Given the description of an element on the screen output the (x, y) to click on. 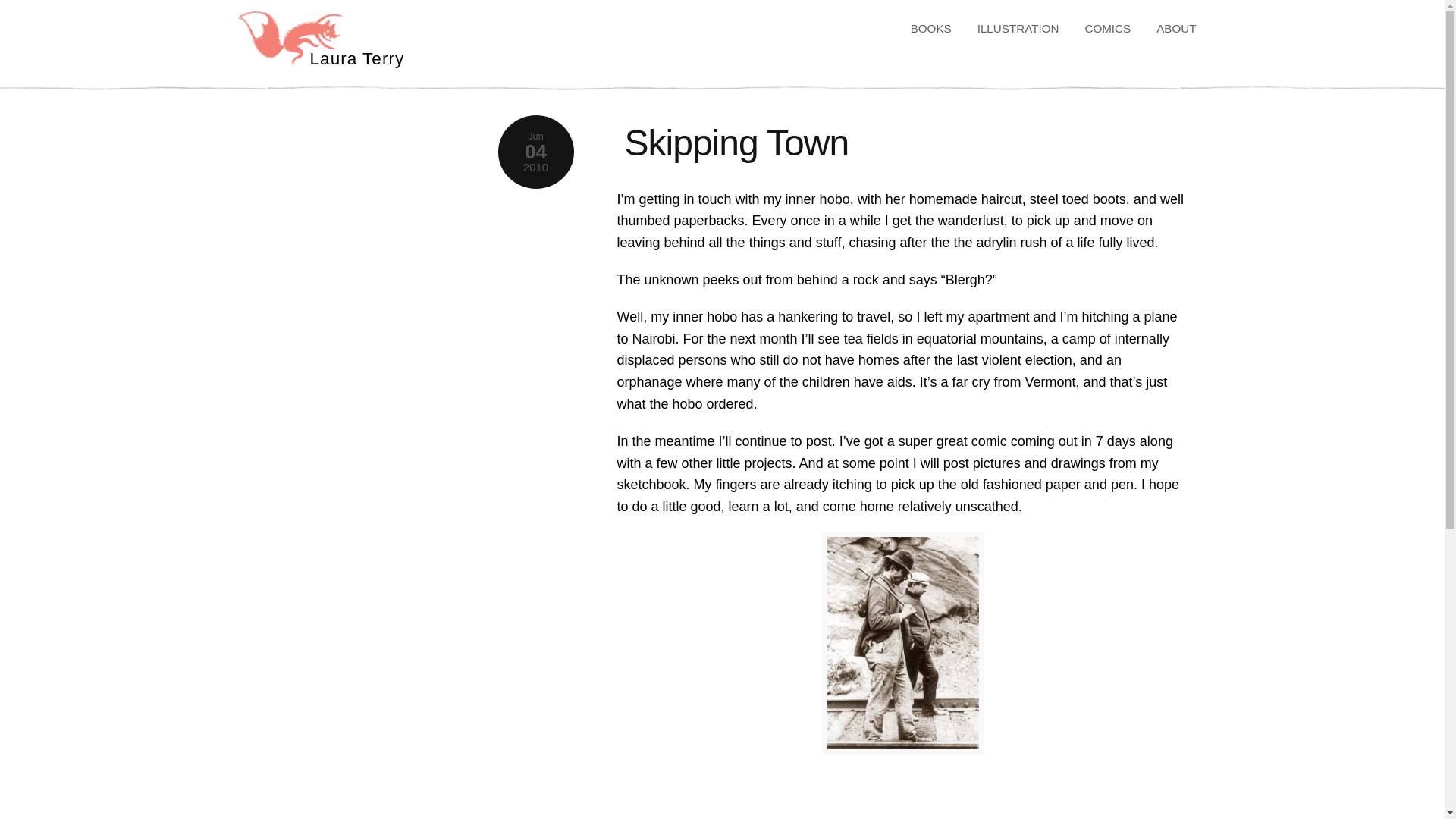
ABOUT (1174, 28)
ILLUSTRATION (1016, 28)
hobos (903, 642)
Skipping Town (736, 142)
COMICS (1105, 28)
BOOKS (929, 28)
Laura Terry (364, 48)
